Given the description of an element on the screen output the (x, y) to click on. 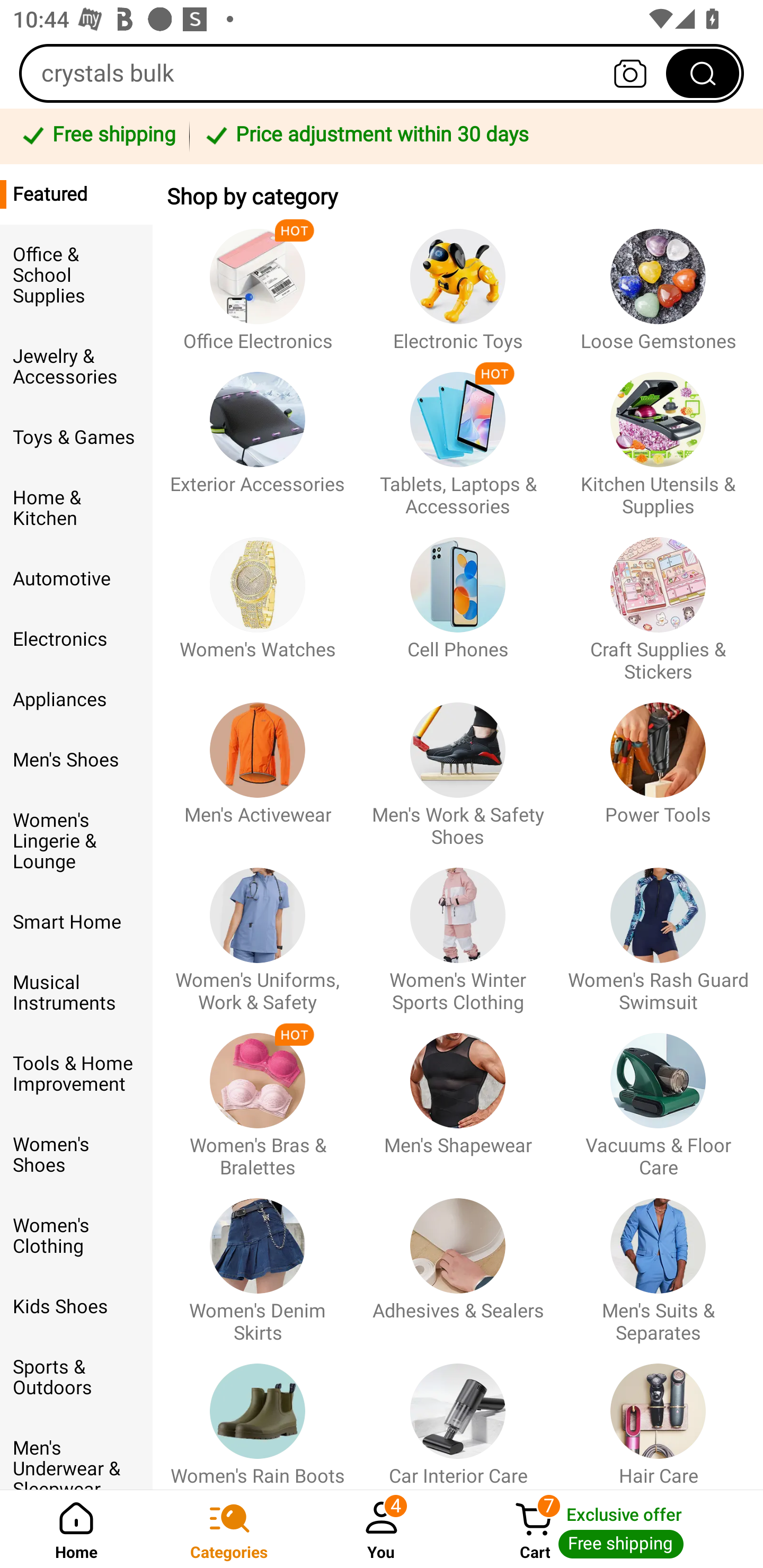
crystals bulk (381, 73)
Free shipping (97, 136)
Price adjustment within 30 days (472, 136)
Featured (76, 194)
Office Electronics (257, 281)
Electronic Toys (457, 281)
Loose Gemstones (657, 281)
Office & School Supplies (76, 275)
Jewelry & Accessories (76, 366)
Exterior Accessories (257, 434)
Tablets, Laptops & Accessories (457, 434)
Kitchen Utensils & Supplies (657, 434)
Toys & Games (76, 437)
Home & Kitchen (76, 507)
Women's Watches (257, 600)
Cell Phones (457, 600)
Craft Supplies & Stickers (657, 600)
Automotive (76, 578)
Electronics (76, 639)
Appliances (76, 699)
Men's Activewear (257, 765)
Men's Work & Safety Shoes (457, 765)
Power Tools (657, 765)
Men's Shoes (76, 760)
Women's Lingerie & Lounge (76, 841)
Women's Uniforms, Work & Safety (257, 931)
Women's Winter Sports Clothing (457, 931)
Women's Rash Guard Swimsuit (657, 931)
Smart Home (76, 921)
Musical Instruments (76, 992)
Women's Bras & Bralettes (257, 1096)
Men's Shapewear (457, 1096)
Vacuums & Floor Care (657, 1096)
Tools & Home Improvement (76, 1073)
Women's Shoes (76, 1154)
Women's Denim Skirts (257, 1261)
Adhesives & Sealers (457, 1261)
Men's Suits & Separates (657, 1261)
Women's Clothing (76, 1235)
Kids Shoes (76, 1306)
Sports & Outdoors (76, 1377)
Women's Rain Boots (257, 1415)
Car Interior Care (457, 1415)
Hair Care (657, 1415)
Men's Underwear & Sleepwear (76, 1453)
Home (76, 1528)
Categories (228, 1528)
You 4 You (381, 1528)
Cart 7 Cart Exclusive offer (610, 1528)
